Given the description of an element on the screen output the (x, y) to click on. 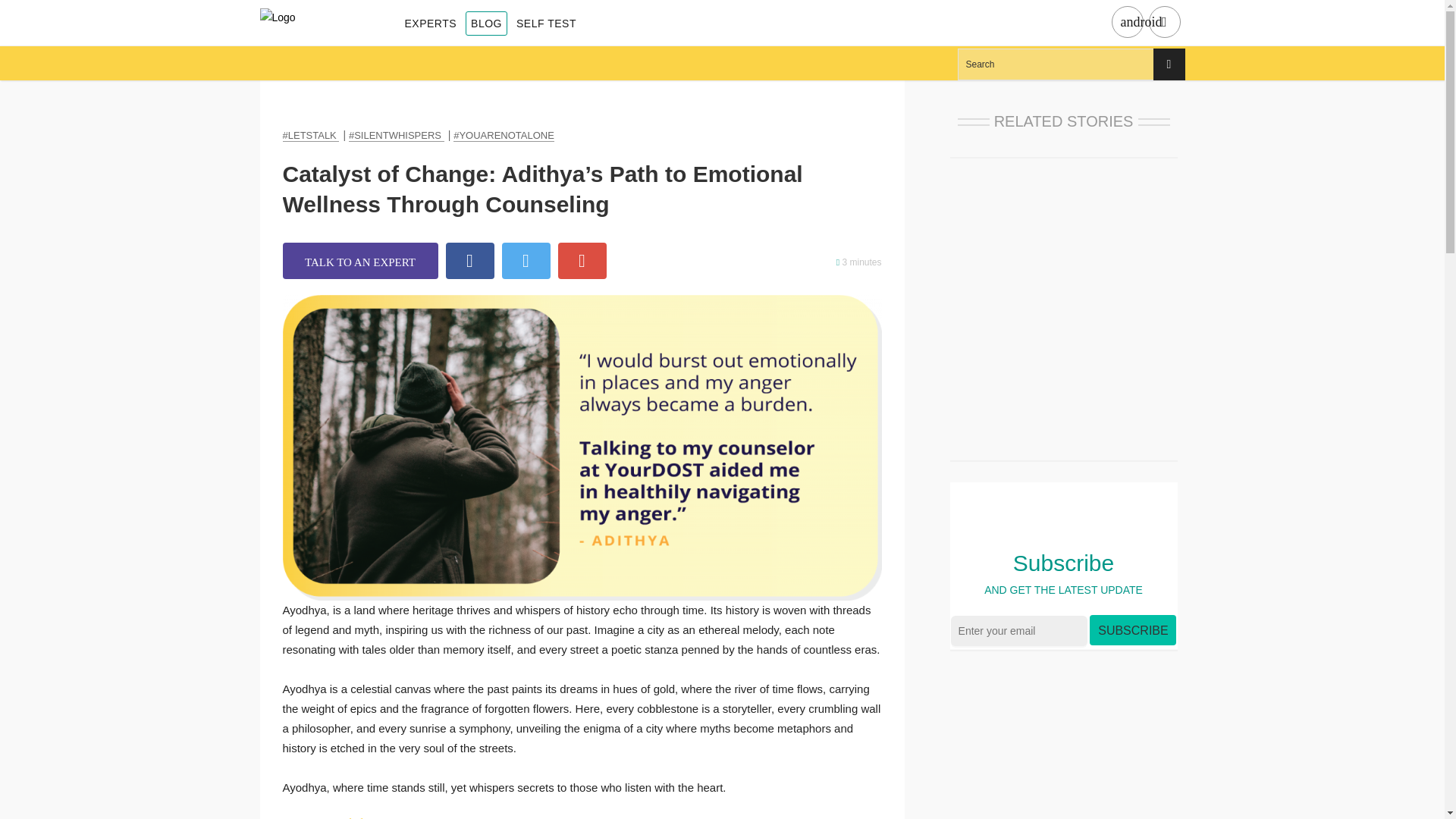
Get it on App Store (1163, 22)
EXPERTS (430, 23)
Search (1070, 64)
Get it on Play Store (1141, 21)
Get it on Play Store (1127, 22)
BLOG (485, 23)
Search (1070, 64)
SELF TEST (546, 23)
android (1127, 22)
